Given the description of an element on the screen output the (x, y) to click on. 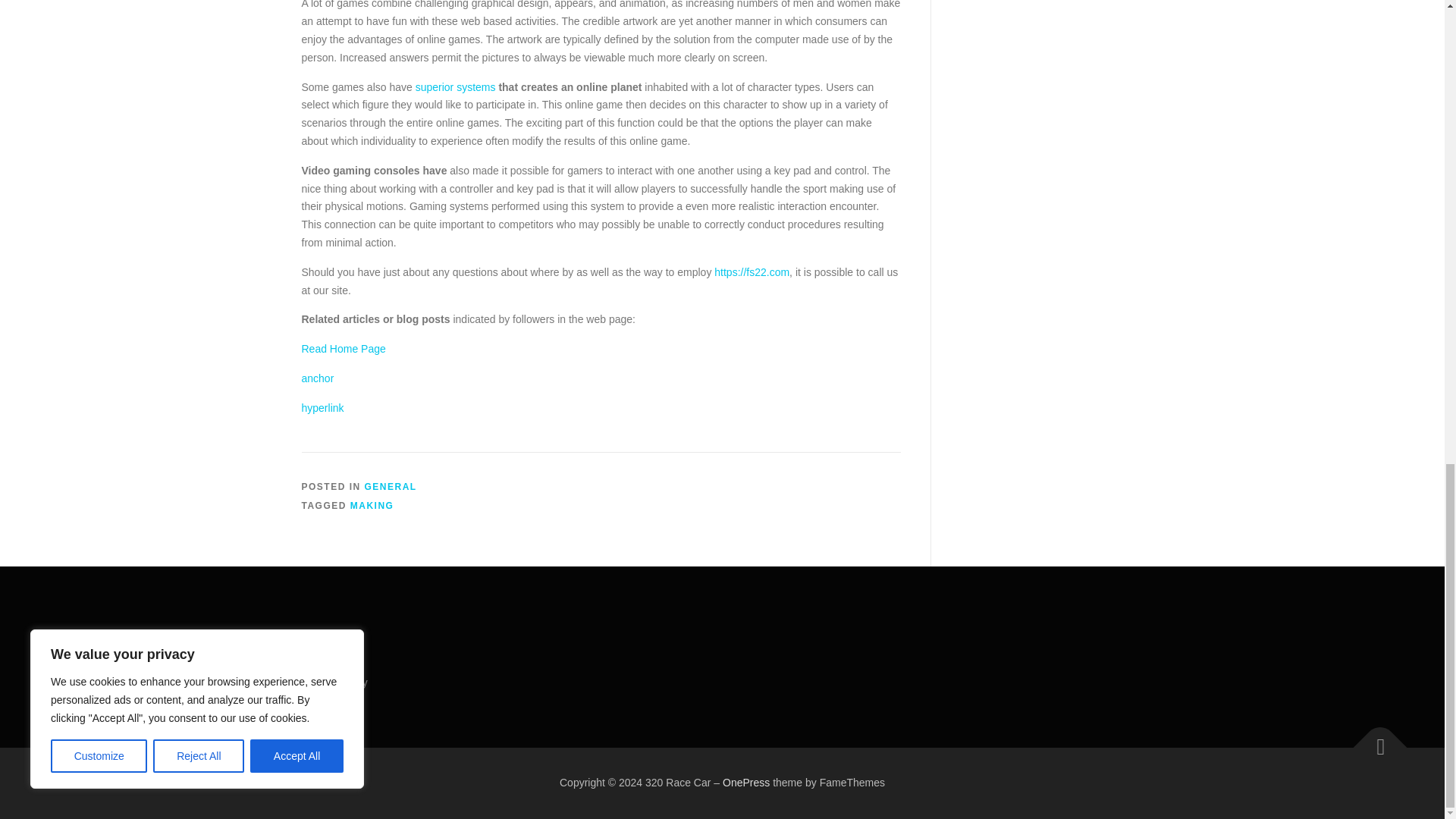
superior systems (455, 87)
MAKING (372, 505)
Back To Top (1372, 739)
anchor (317, 378)
GENERAL (390, 486)
hyperlink (322, 408)
Read Home Page (343, 348)
